Given the description of an element on the screen output the (x, y) to click on. 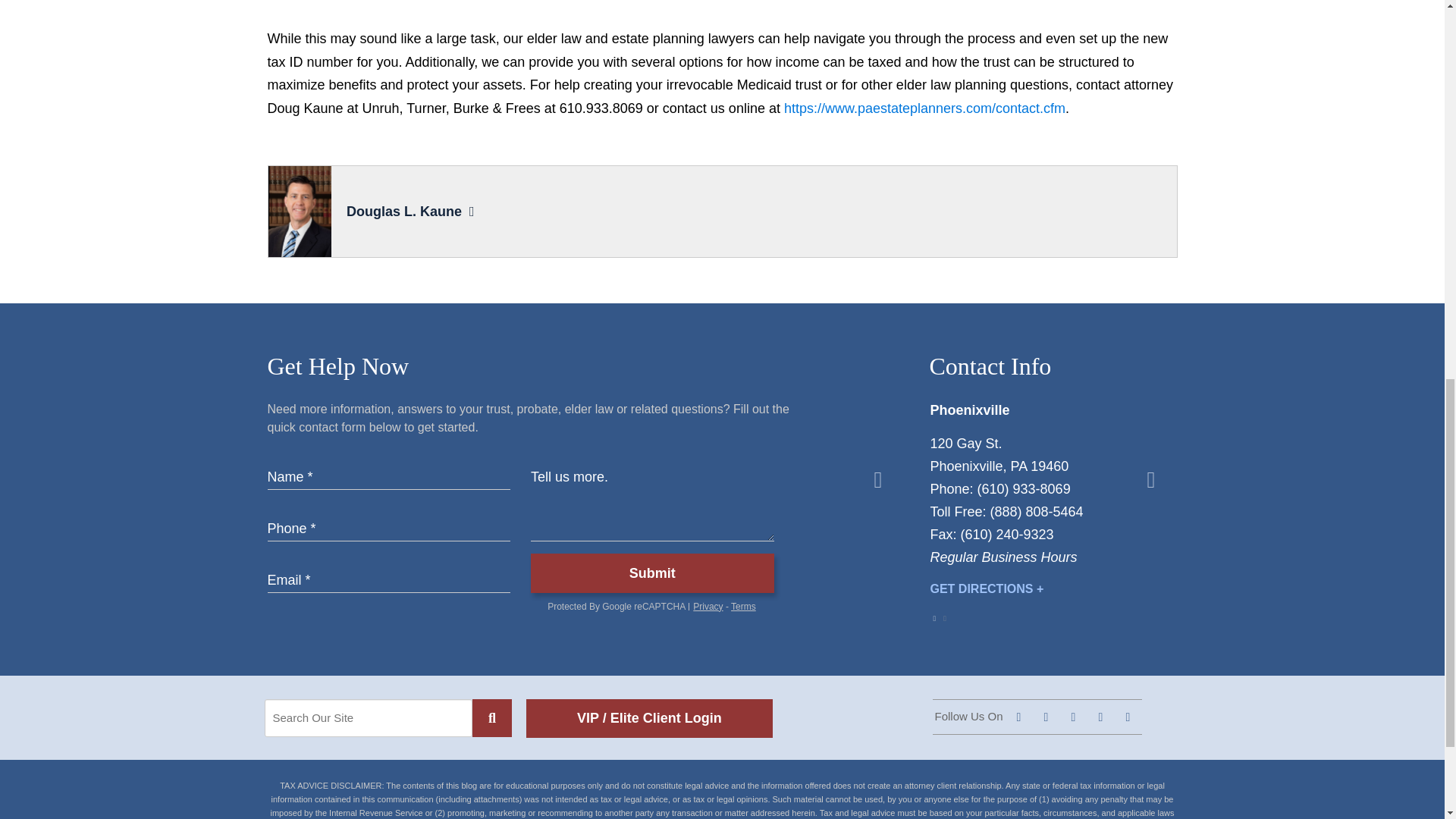
Search (491, 718)
Privacy (707, 606)
Submit (652, 573)
Douglas L. Kaune (403, 211)
Terms (742, 606)
